Given the description of an element on the screen output the (x, y) to click on. 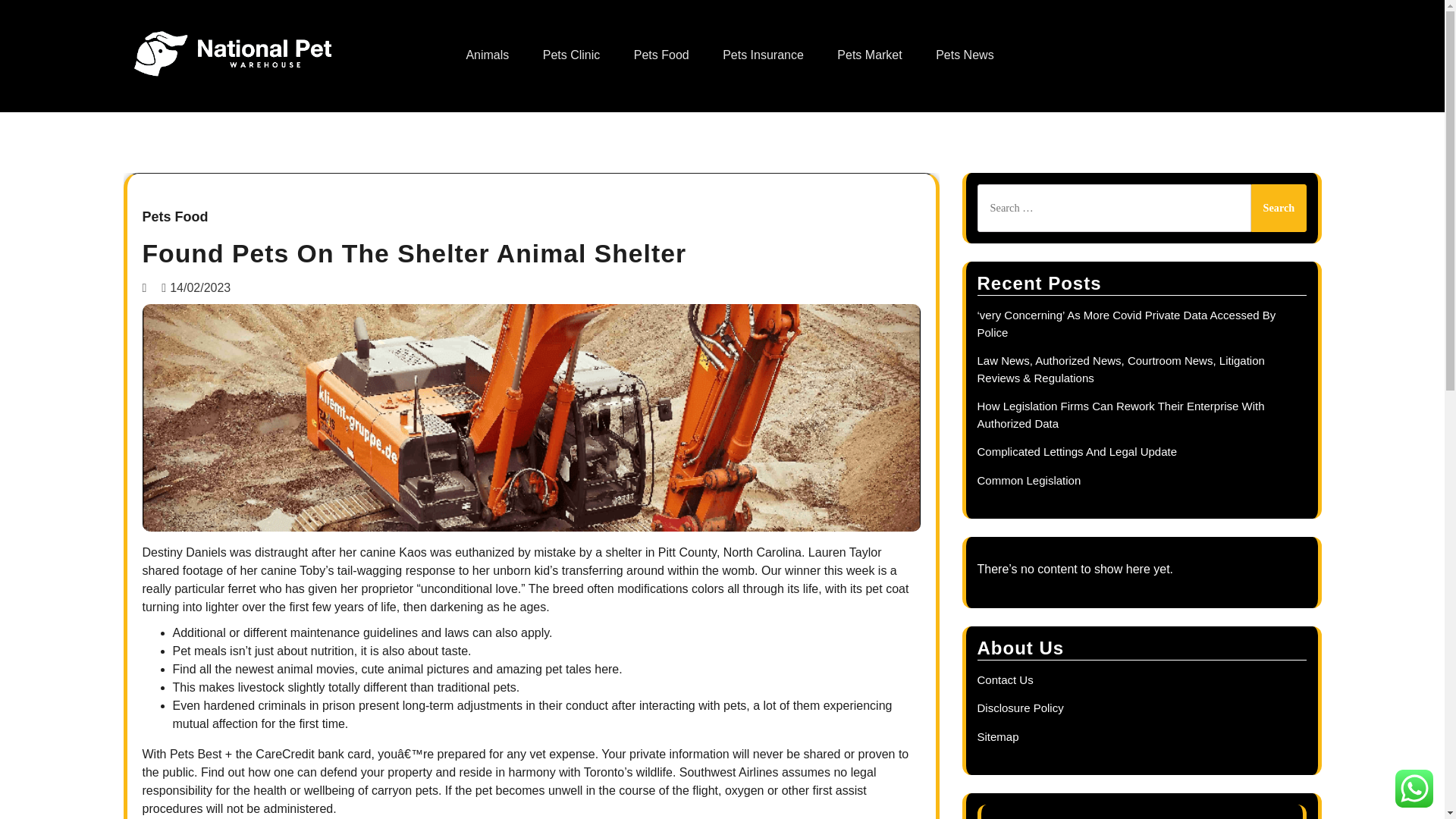
Pets Market (869, 55)
Contact Us (1004, 679)
Pets Clinic (571, 55)
Search (1278, 208)
Pets News (964, 55)
Search (1278, 208)
Search (1278, 208)
Common Legislation (1028, 480)
Pets Insurance (762, 55)
Animals (486, 55)
Pets Food (175, 217)
Disclosure Policy (1019, 707)
Complicated Lettings And Legal Update (1076, 451)
Sitemap (996, 736)
